Given the description of an element on the screen output the (x, y) to click on. 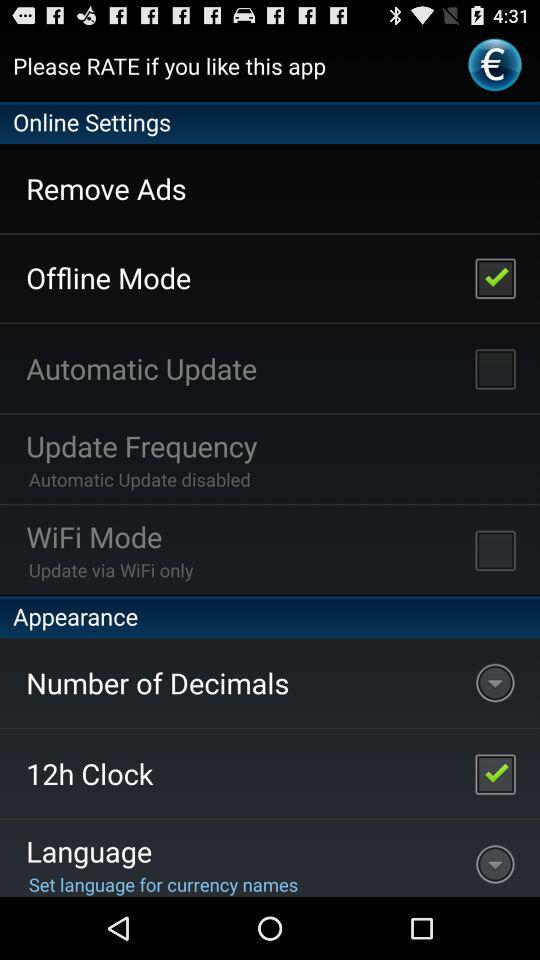
unmark the slected option (495, 277)
